Given the description of an element on the screen output the (x, y) to click on. 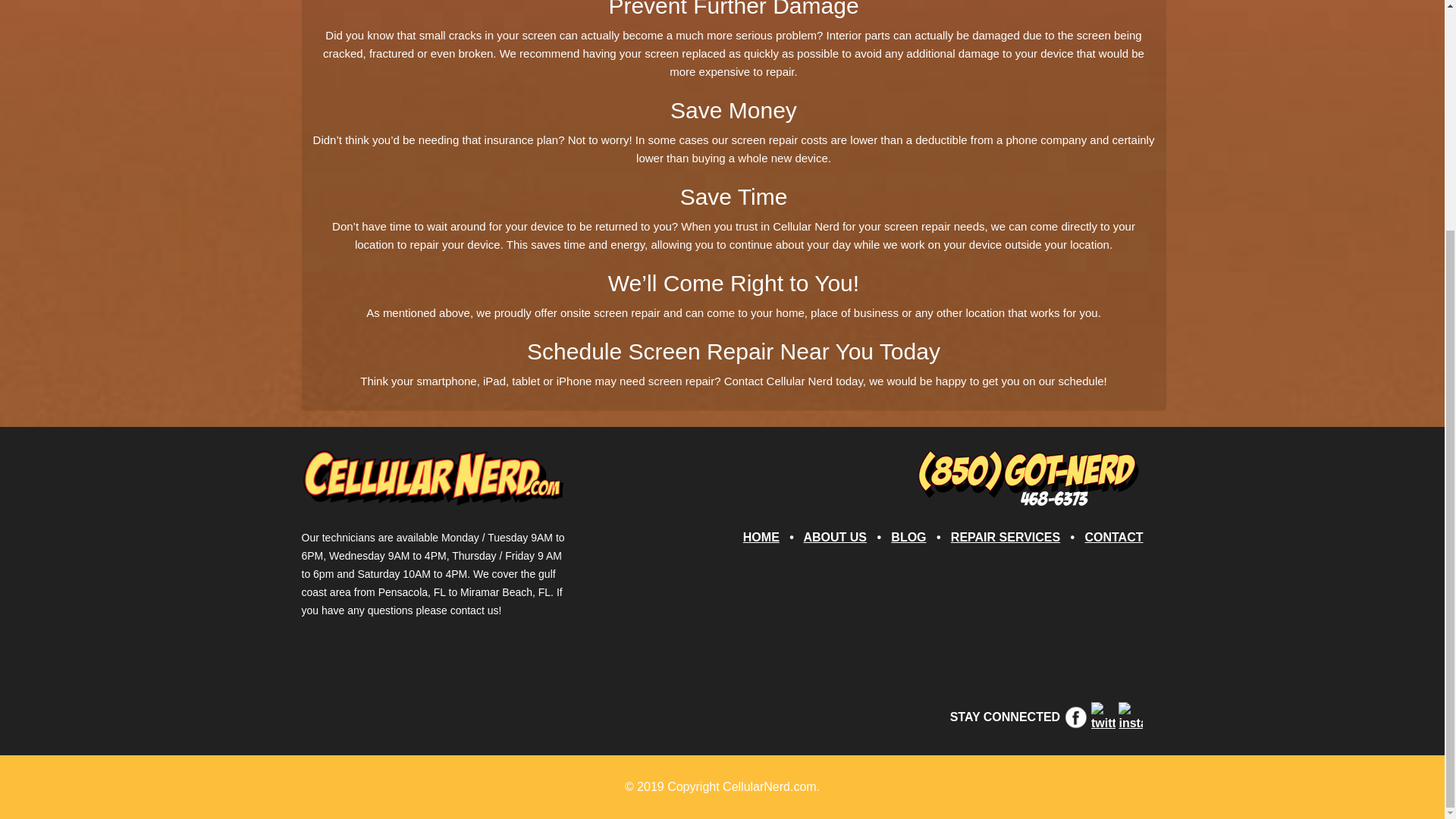
CONTACT (1113, 536)
BLOG (908, 536)
ABOUT US (834, 536)
REPAIR SERVICES (1004, 536)
HOME (760, 536)
